Given the description of an element on the screen output the (x, y) to click on. 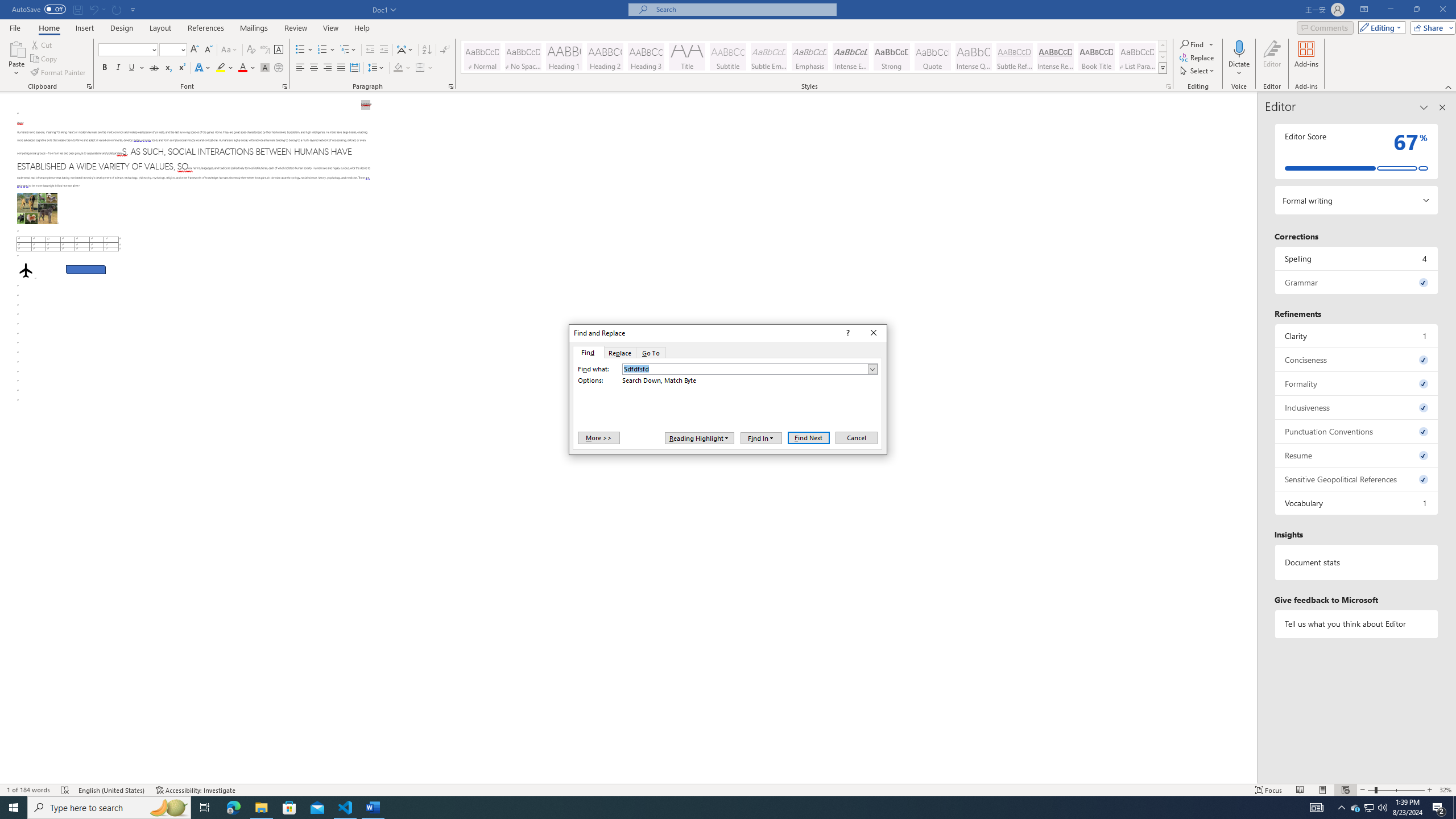
Action Center, 2 new notifications (1368, 807)
Heading 1 (1439, 807)
Microsoft Edge (564, 56)
AutomationID: 4105 (233, 807)
Clarity, 1 issue. Press space or enter to review items. (1316, 807)
Find Next (1356, 335)
Language English (United States) (808, 437)
